Given the description of an element on the screen output the (x, y) to click on. 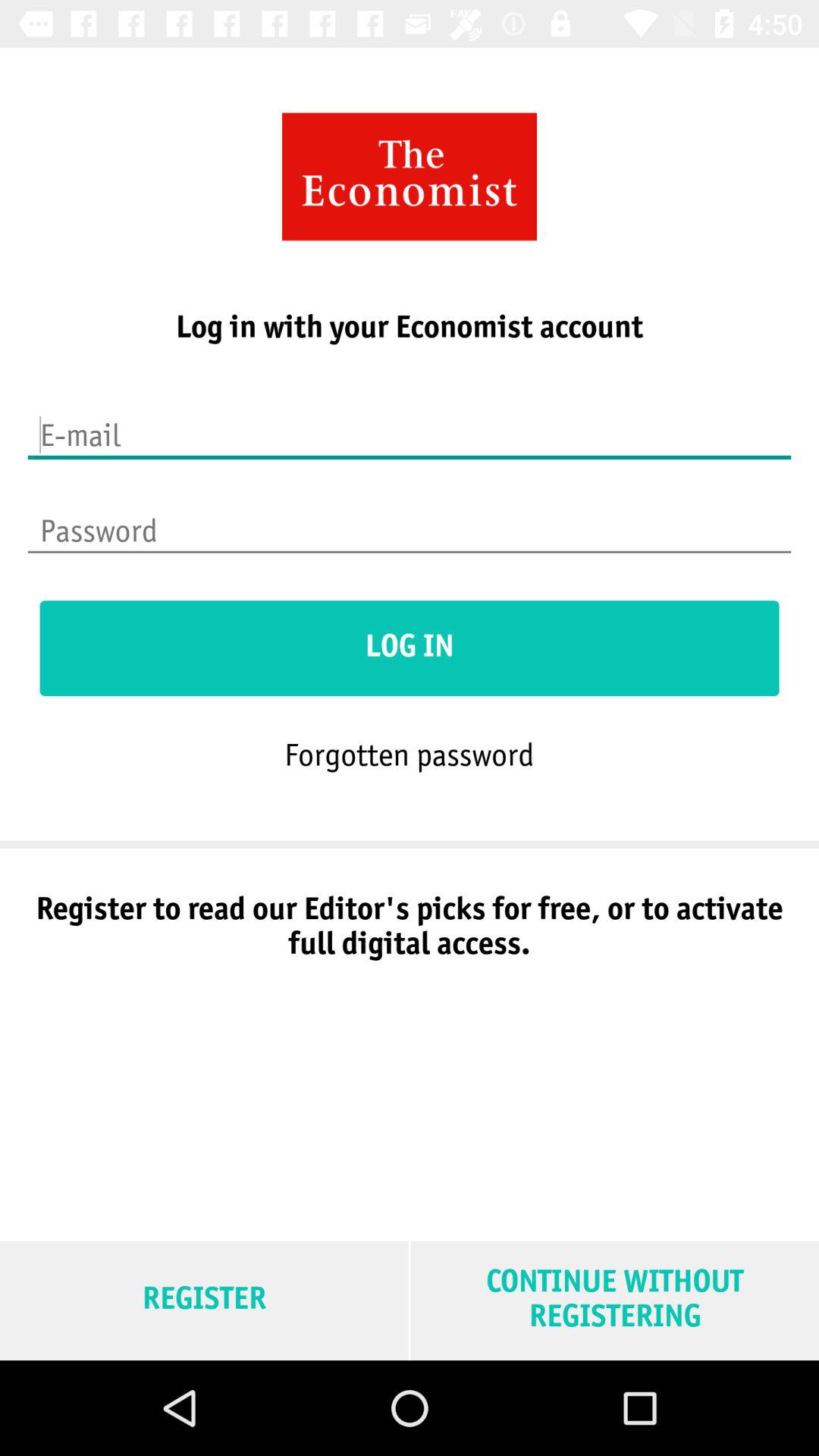
create your custom email address (409, 425)
